Given the description of an element on the screen output the (x, y) to click on. 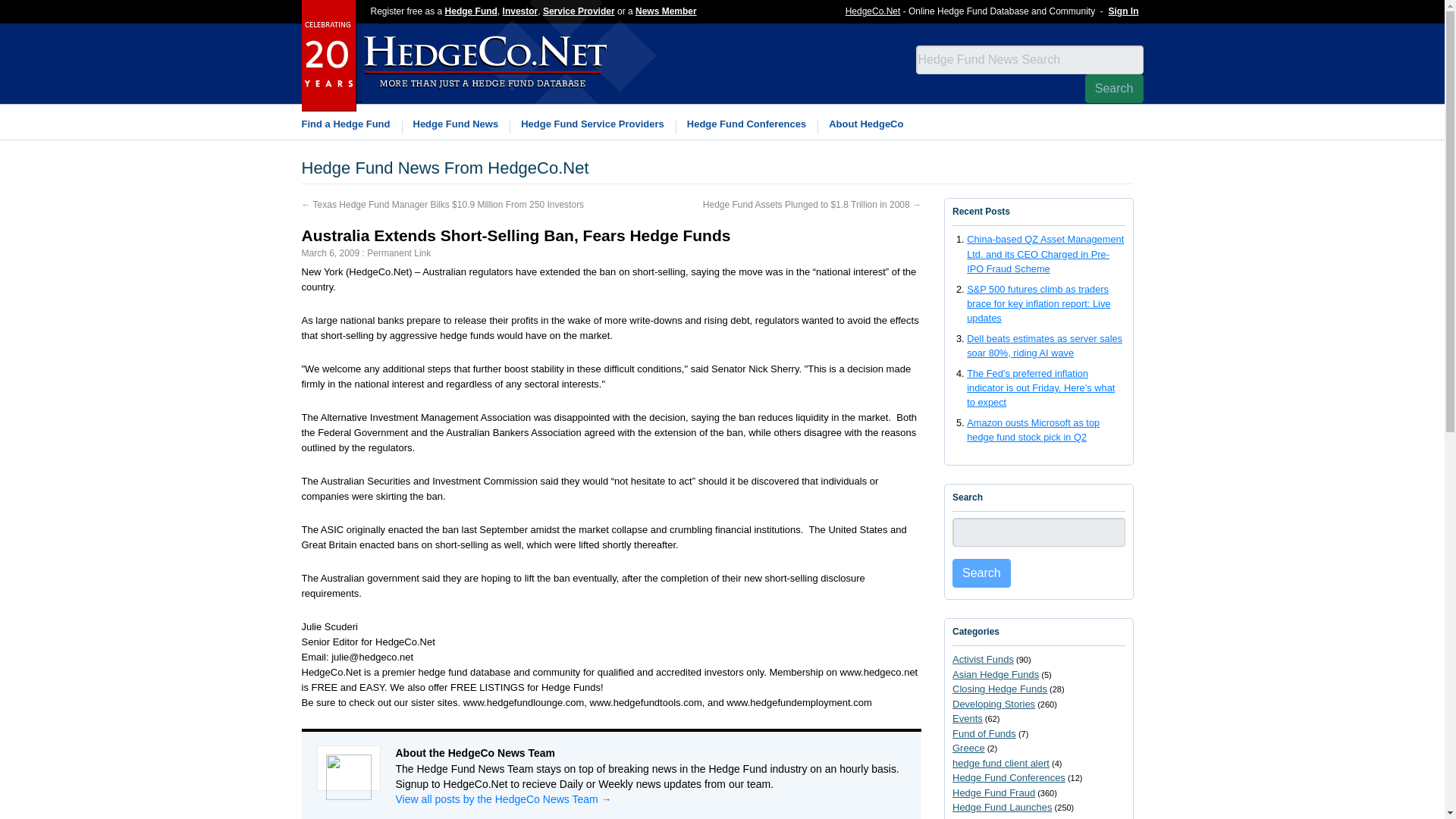
Search (1113, 88)
Service Provider (578, 10)
HedgeCo.Net (873, 10)
Sign In (1123, 10)
Sign In (1123, 10)
Hedge Fund (471, 10)
News Member (665, 10)
Hedge Fund News From HedgeCo.Net (445, 171)
Investor (520, 10)
HedgeCo.Net - Online Hedge Fund Database and Community (873, 10)
